Given the description of an element on the screen output the (x, y) to click on. 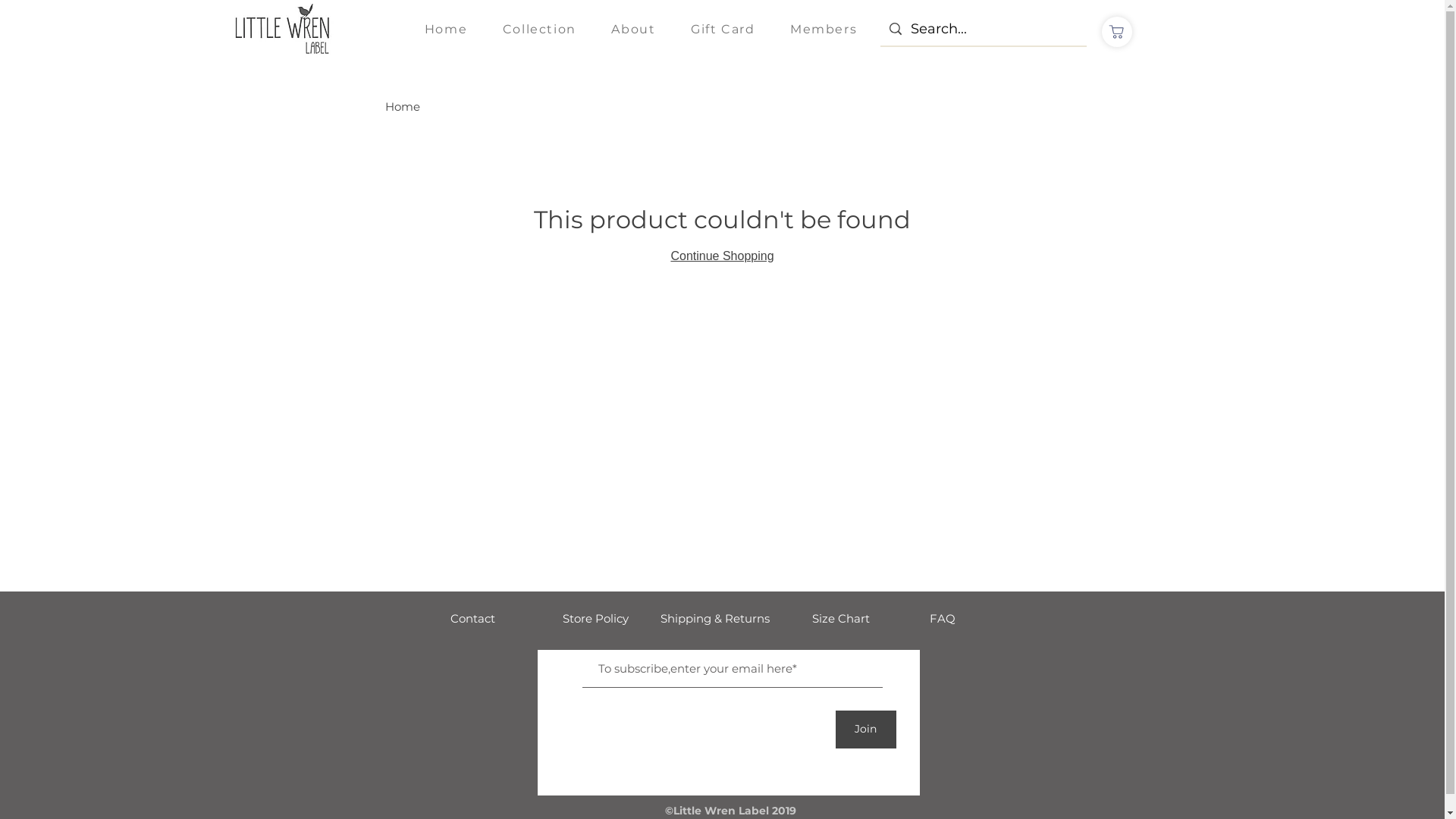
Contact Element type: text (472, 618)
Continue Shopping Element type: text (721, 255)
Home Element type: text (445, 29)
Join Element type: text (865, 729)
Members Element type: text (823, 29)
Gift Card Element type: text (722, 29)
About Element type: text (633, 29)
Home Element type: text (402, 106)
